Given the description of an element on the screen output the (x, y) to click on. 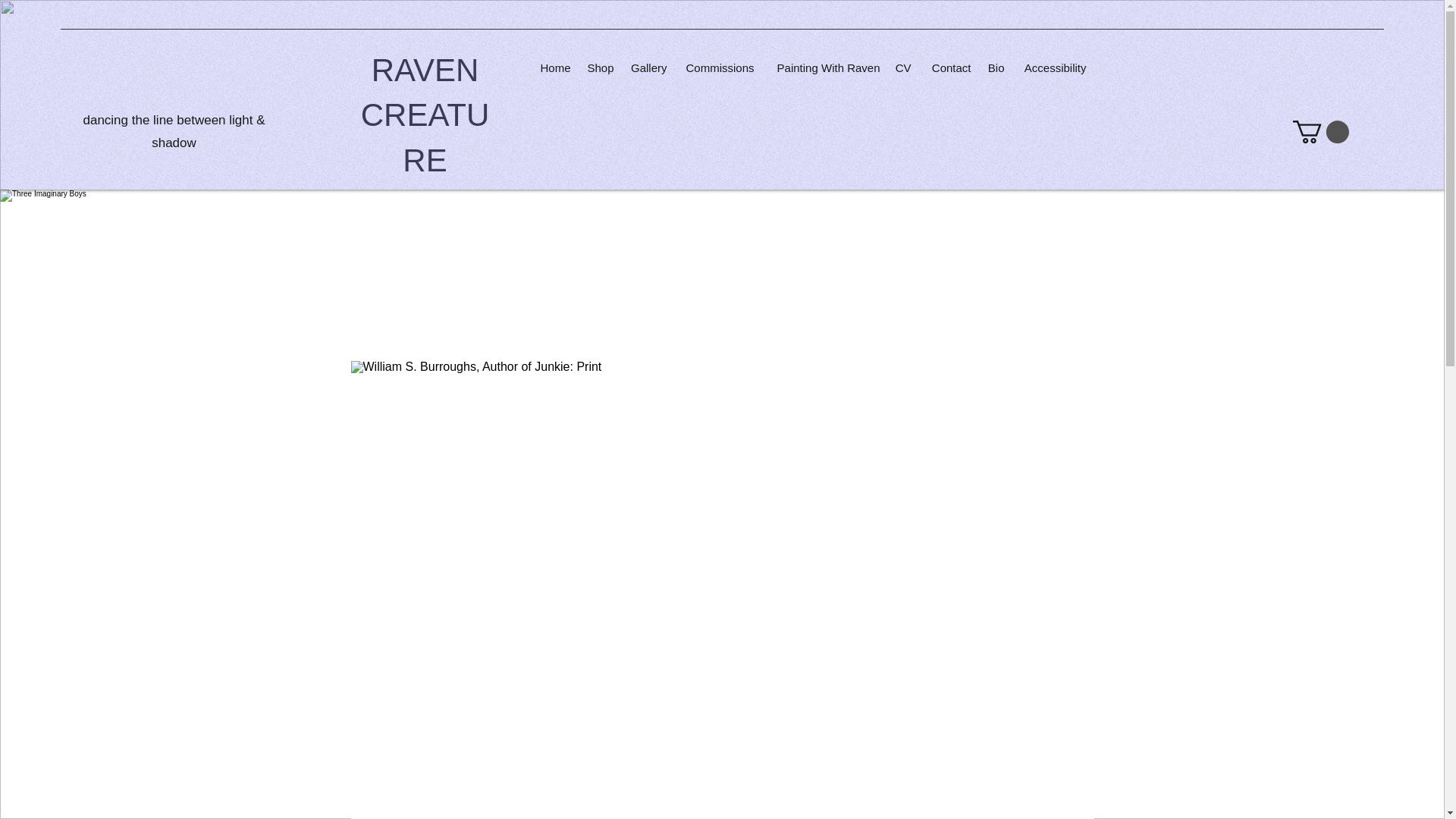
Painting With Raven (823, 67)
Commissions (718, 67)
Bio (994, 67)
Contact (948, 67)
CV (902, 67)
Gallery (648, 67)
RAVEN CREATURE (425, 114)
Accessibility (1052, 67)
Home (554, 67)
Shop (599, 67)
